Given the description of an element on the screen output the (x, y) to click on. 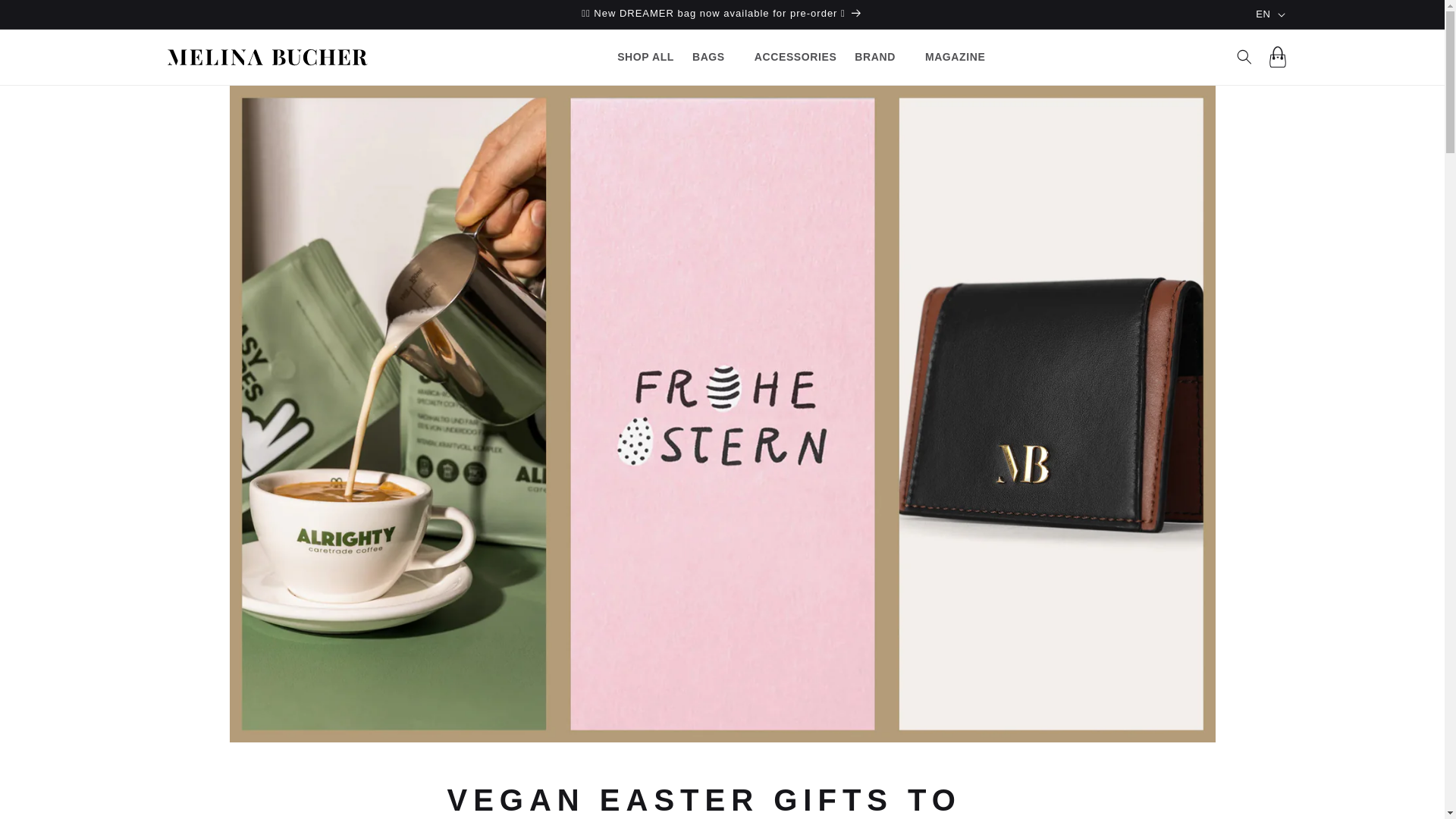
SHOP ALL (645, 56)
EN (1263, 14)
ACCESSORIES (795, 56)
Skip to content (45, 17)
